Given the description of an element on the screen output the (x, y) to click on. 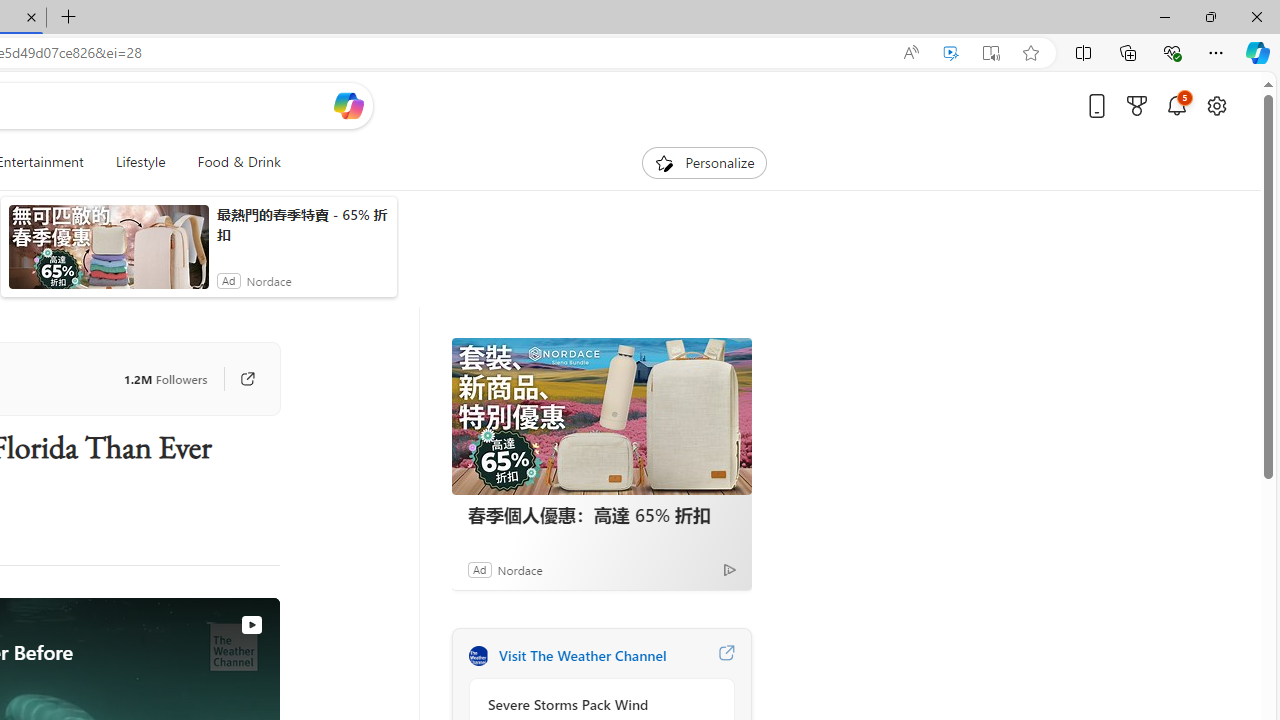
Enhance video (950, 53)
View on Watch View on Watch (205, 624)
Go to publisher's site (237, 378)
To get missing image descriptions, open the context menu. (664, 162)
Lifestyle (140, 162)
Ad Choice (729, 569)
View on Watch (251, 625)
Visit The Weather Channel website (726, 655)
Food & Drink (230, 162)
Microsoft rewards (1137, 105)
